Given the description of an element on the screen output the (x, y) to click on. 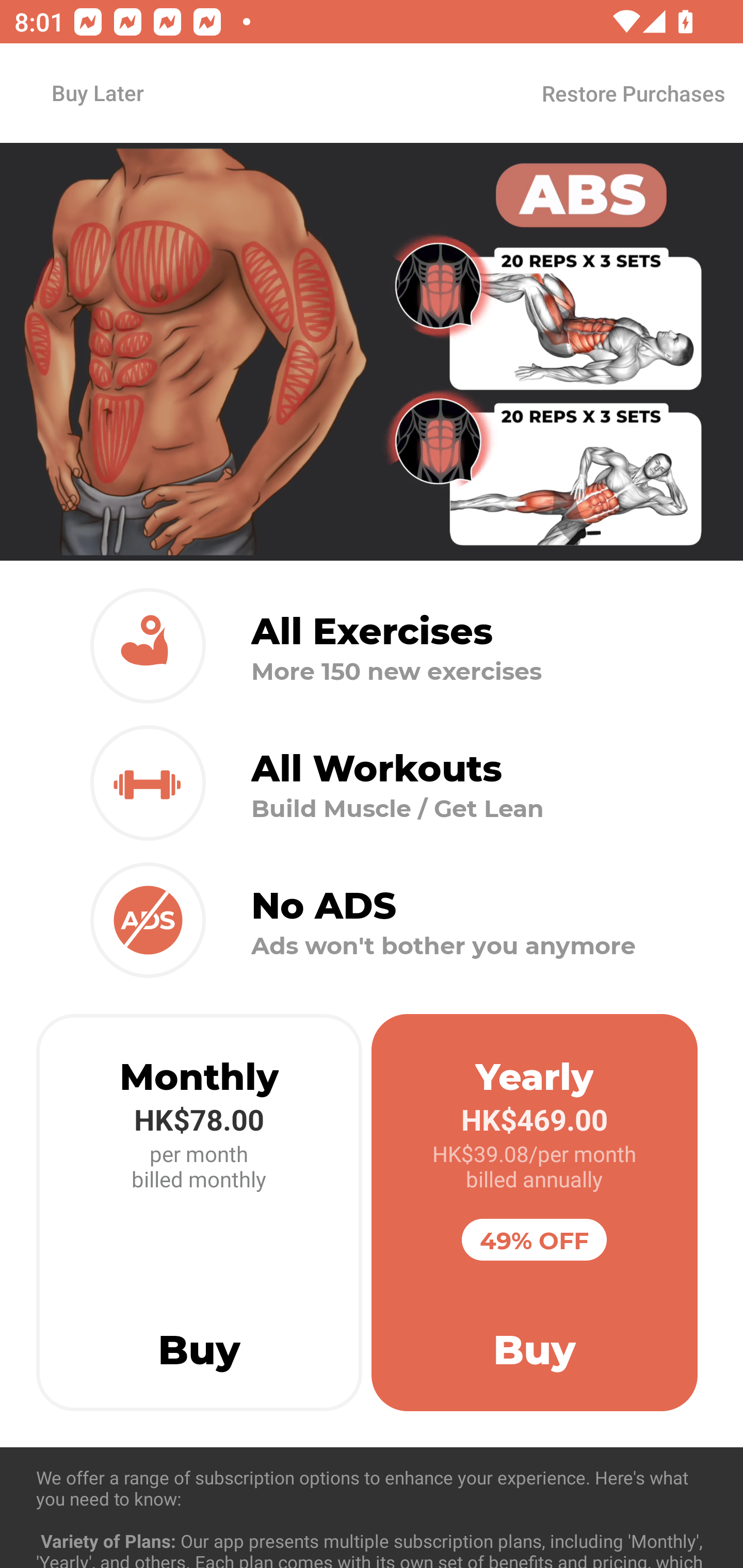
Restore Purchases (632, 92)
Buy Later (96, 92)
Monthly HK$78.00 per month
billed monthly Buy (199, 1212)
